Given the description of an element on the screen output the (x, y) to click on. 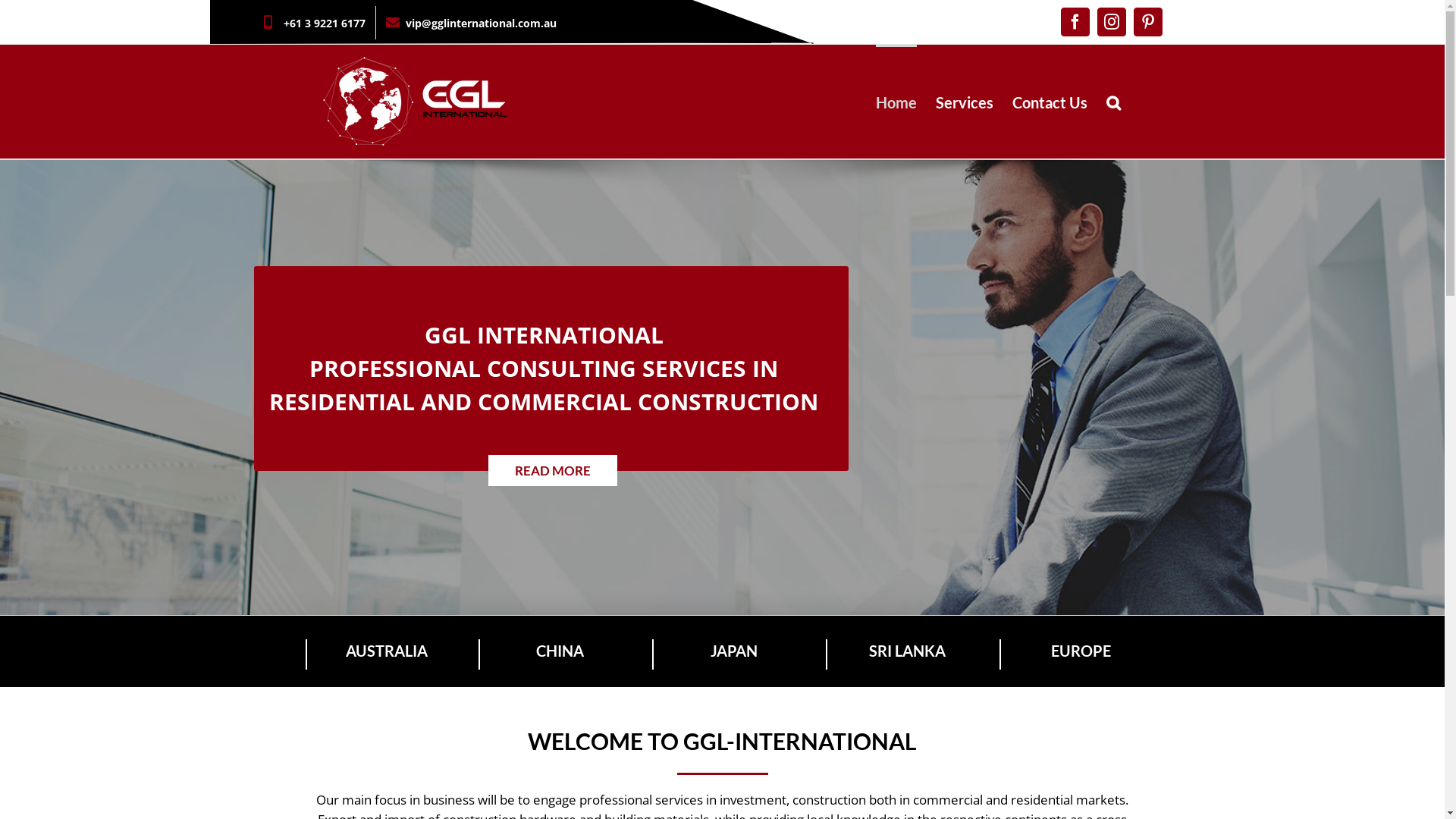
Contact Us Element type: text (1048, 101)
vip@gglinternational.com.au Element type: text (471, 22)
+61 3 9221 6177 Element type: text (313, 22)
Services Element type: text (964, 101)
Instagram Element type: text (1110, 21)
Home Element type: text (895, 101)
Pinterest Element type: text (1146, 21)
Search Element type: hover (1112, 101)
Facebook Element type: text (1074, 21)
